Given the description of an element on the screen output the (x, y) to click on. 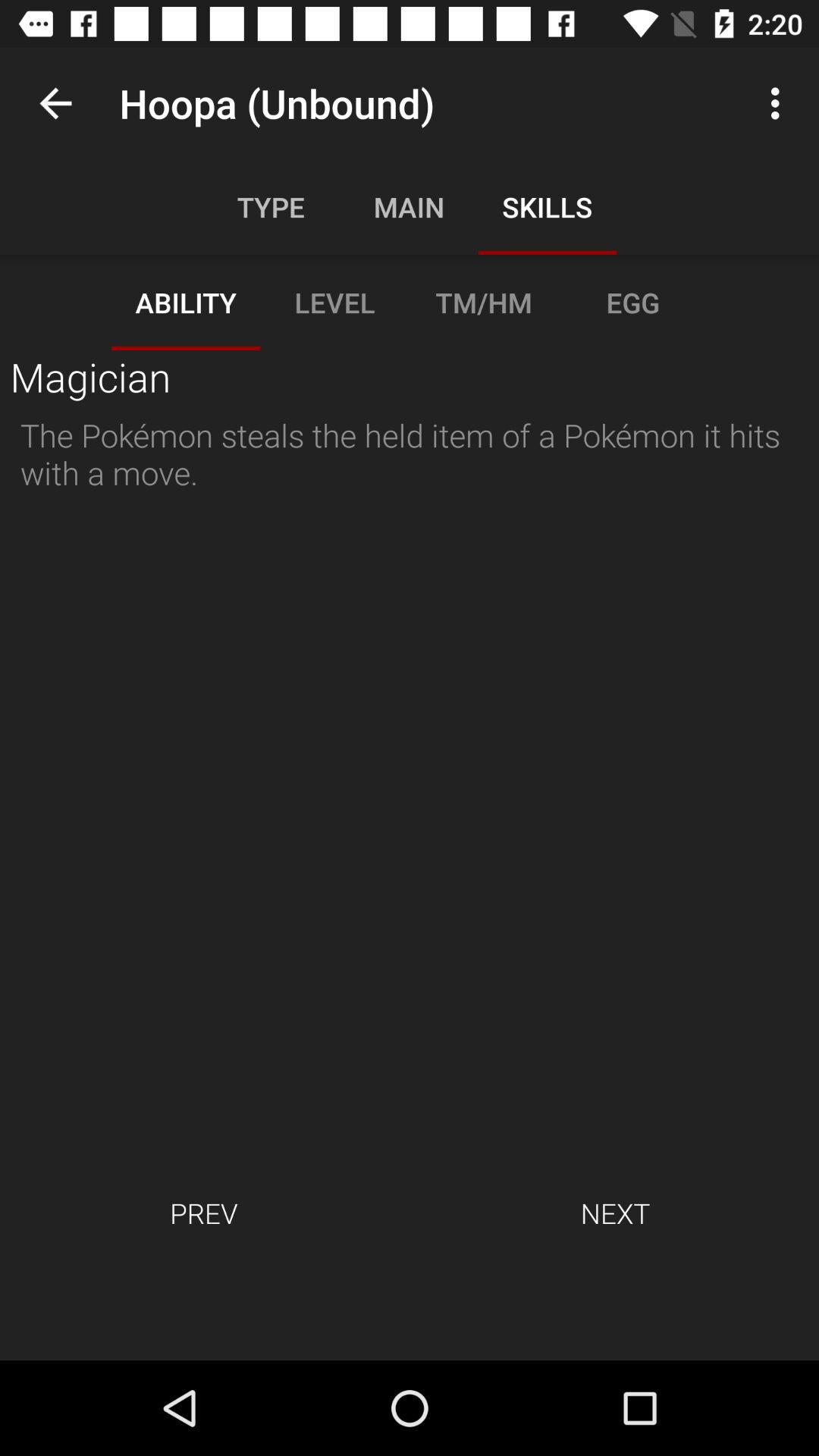
swipe to the magician item (90, 376)
